Given the description of an element on the screen output the (x, y) to click on. 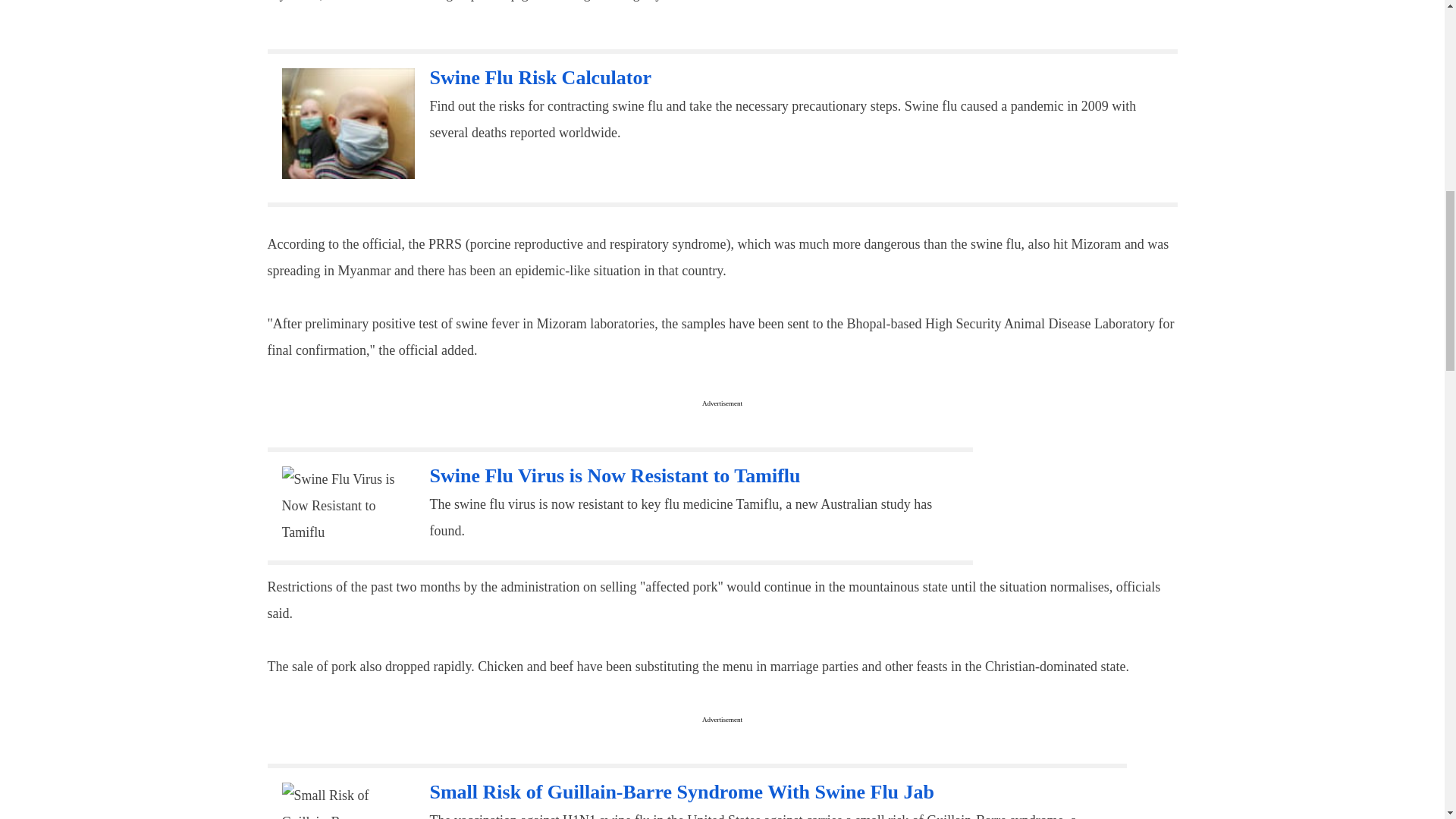
Small Risk of Guillain-Barre Syndrome With Swine Flu Jab (344, 800)
Swine Flu Virus is Now Resistant to Tamiflu (614, 475)
Small Risk of Guillain-Barre Syndrome With Swine Flu Jab (681, 792)
Small Risk of Guillain-Barre Syndrome With Swine Flu Jab (681, 792)
Swine Flu Risk Calculator (348, 123)
Swine Flu Risk Calculator (539, 77)
Swine Flu Virus is Now Resistant to Tamiflu (344, 506)
Swine Flu Risk Calculator (539, 77)
Swine Flu Virus is Now Resistant to Tamiflu (614, 475)
